Given the description of an element on the screen output the (x, y) to click on. 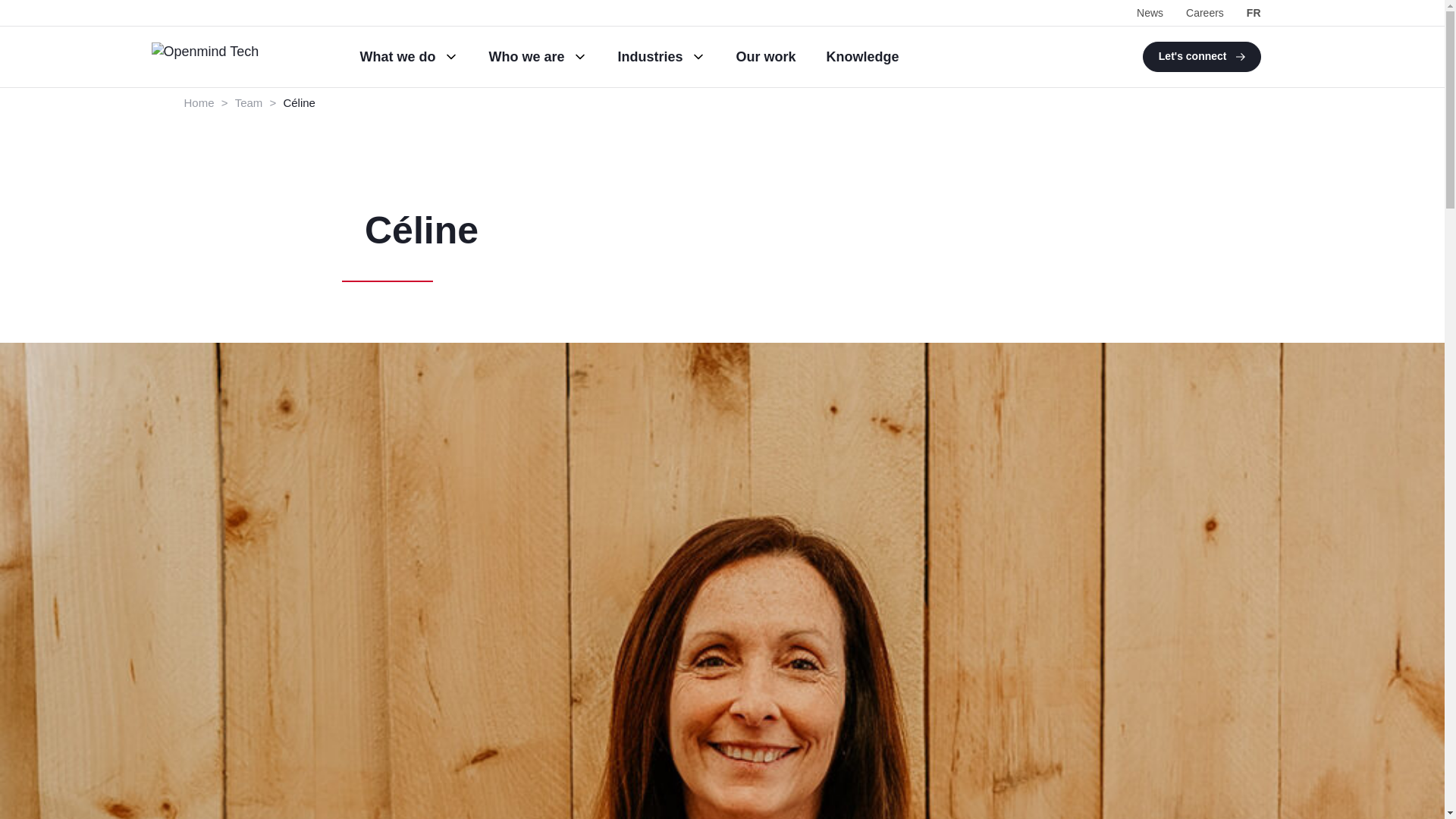
Careers (1205, 12)
Knowledge (863, 56)
FR (1253, 12)
Our work (766, 56)
News (1150, 12)
Who we are (536, 56)
Industries (661, 56)
What we do (408, 56)
Let's connect (1201, 56)
